Given the description of an element on the screen output the (x, y) to click on. 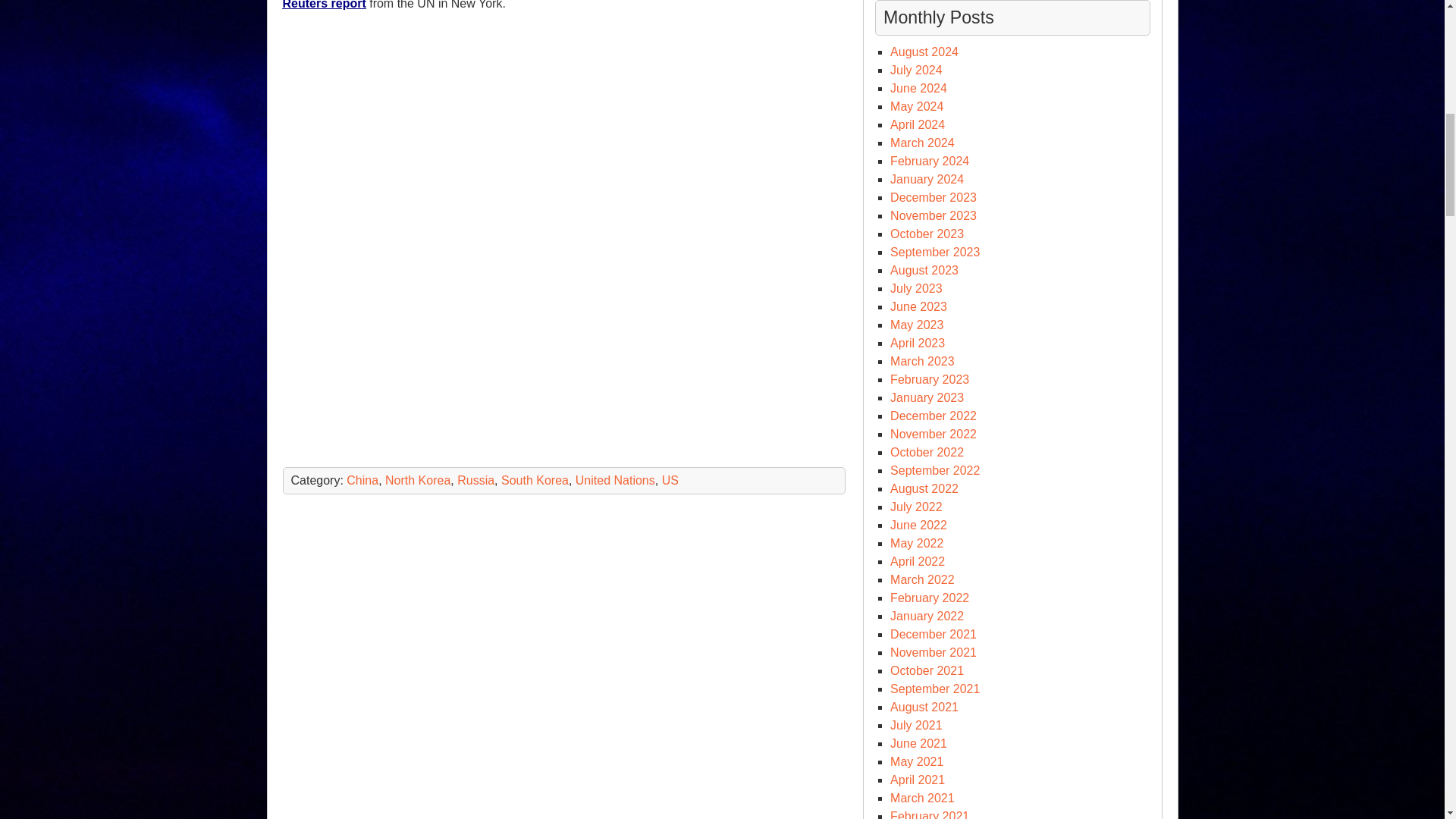
April 2024 (916, 124)
March 2024 (922, 142)
North Korea (417, 480)
South Korea (534, 480)
US (670, 480)
May 2024 (916, 106)
June 2024 (918, 88)
July 2024 (915, 69)
Russia (476, 480)
August 2024 (923, 51)
